Given the description of an element on the screen output the (x, y) to click on. 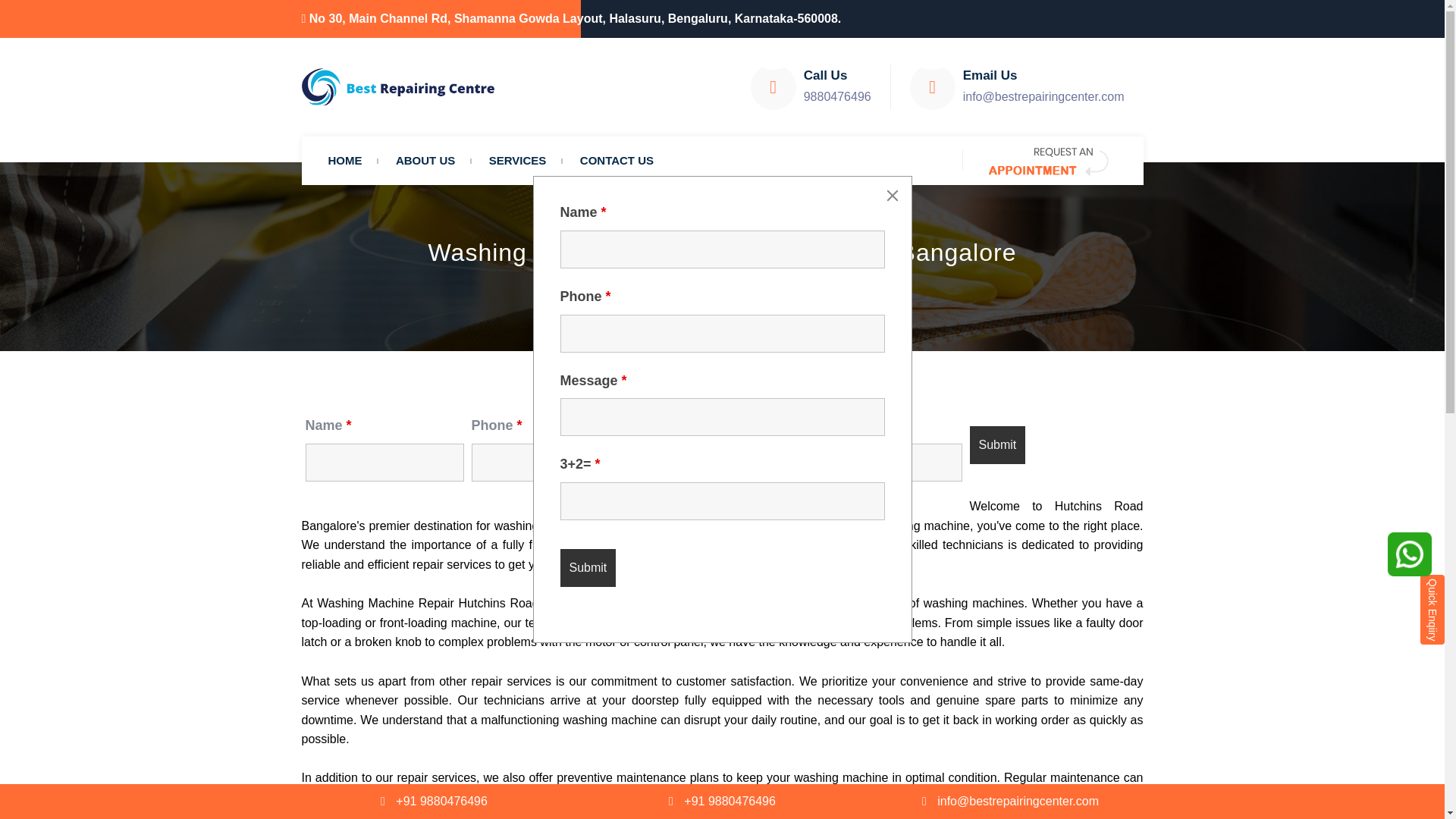
Submit (997, 444)
HOME (345, 160)
CONTACT US (616, 160)
Submit (997, 444)
Submit (587, 567)
ABOUT US (425, 160)
9880476496 (836, 96)
SERVICES (518, 160)
Home (580, 287)
